Given the description of an element on the screen output the (x, y) to click on. 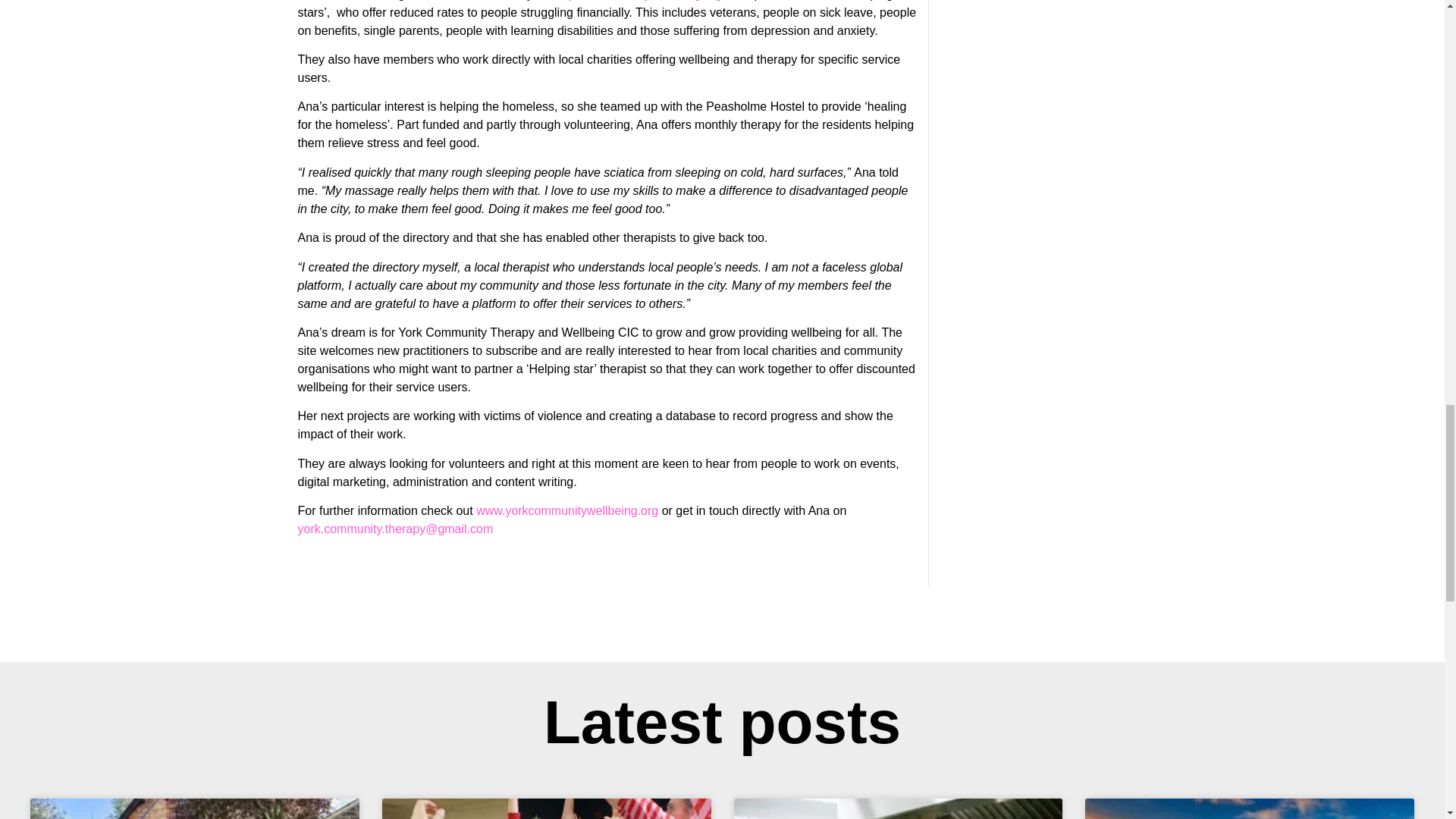
www.yorkcommunitywellbeing.org (567, 510)
